Given the description of an element on the screen output the (x, y) to click on. 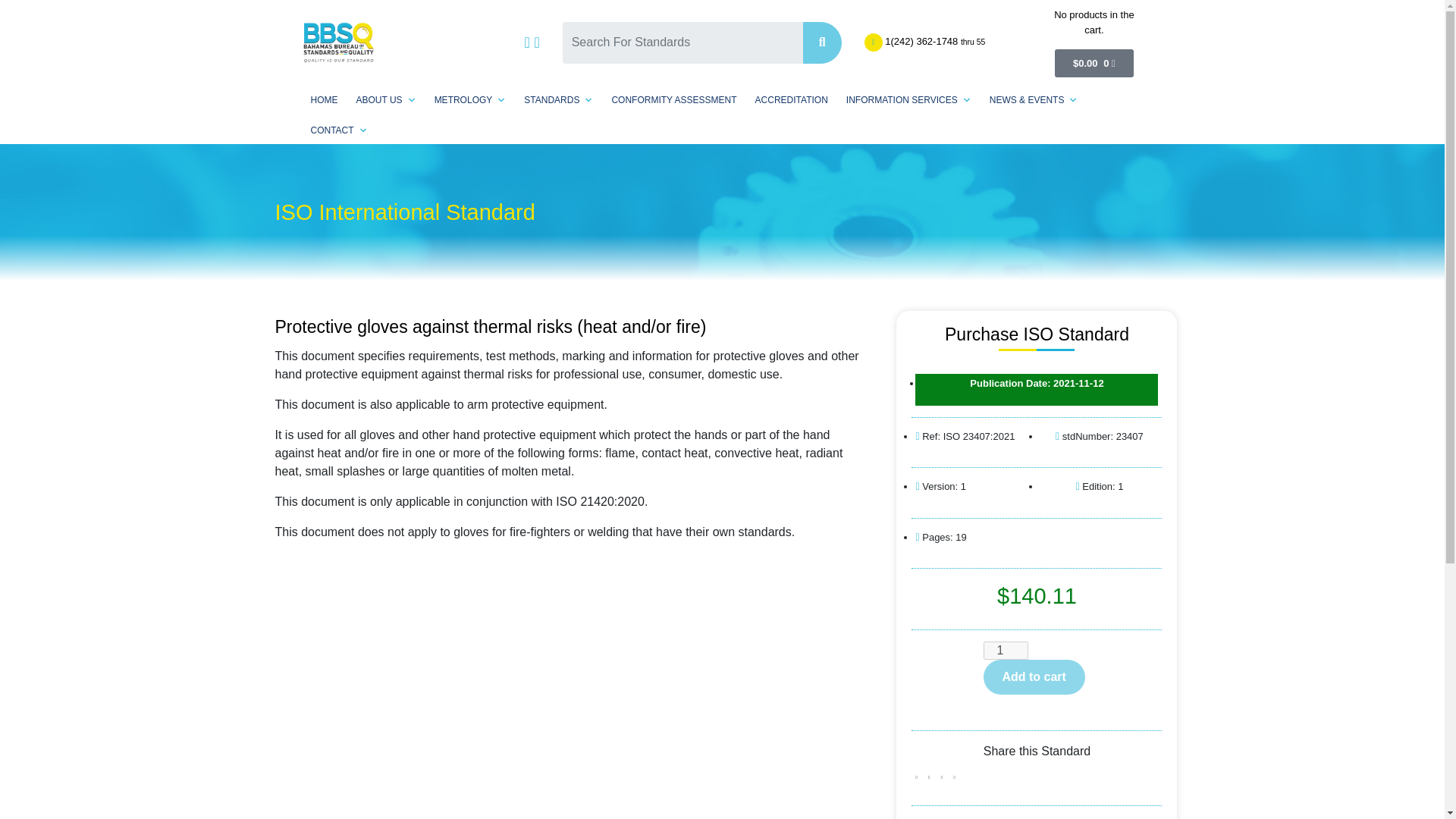
STANDARDS (558, 100)
INFORMATION SERVICES (908, 100)
ACCREDITATION (791, 100)
ABOUT US (386, 100)
CONTACT (339, 130)
HOME (324, 100)
1 (1005, 650)
CONFORMITY ASSESSMENT (673, 100)
METROLOGY (470, 100)
